Given the description of an element on the screen output the (x, y) to click on. 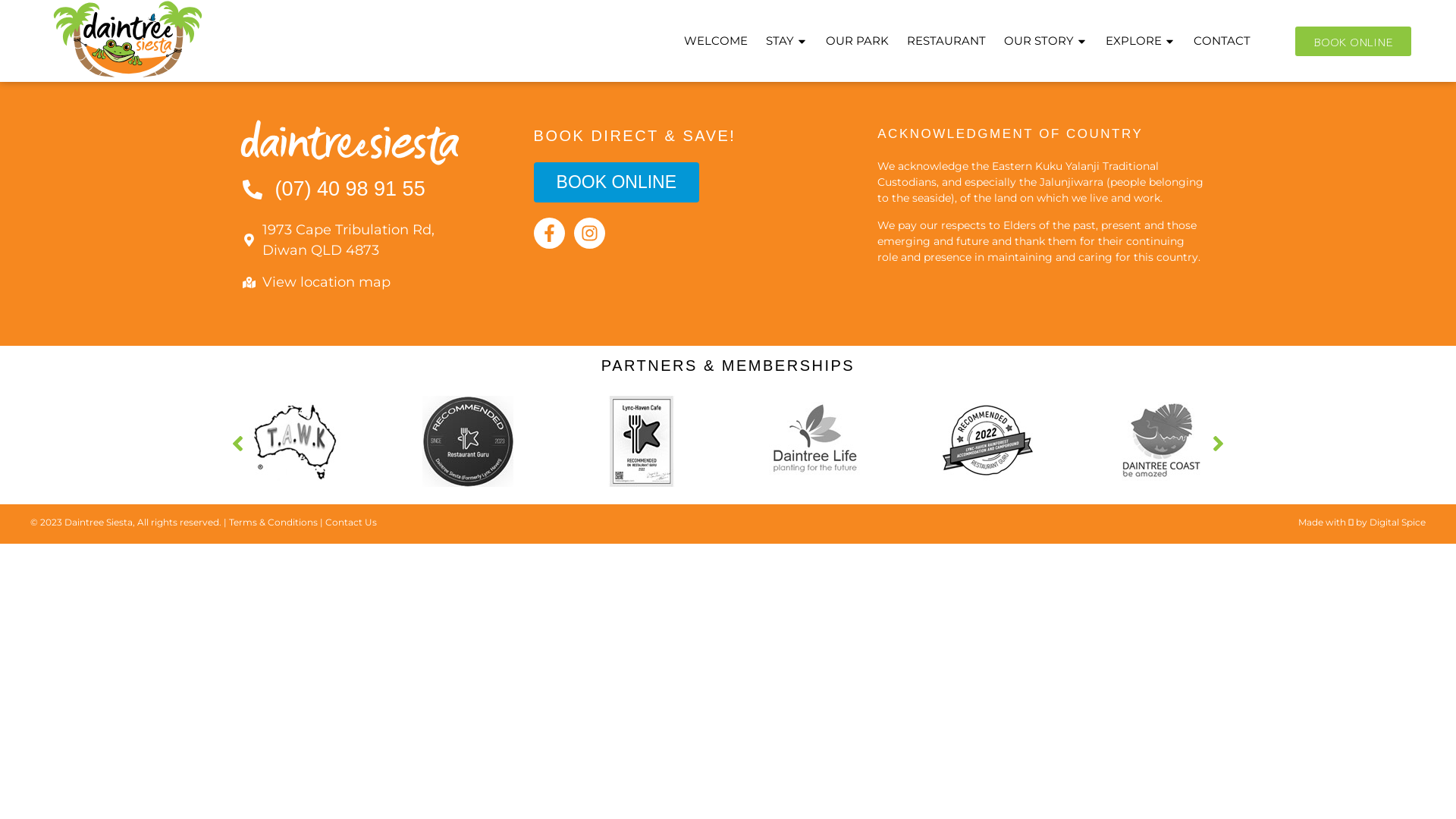
RESTAURANT Element type: text (945, 40)
View location map Element type: text (365, 282)
CONTACT Element type: text (1221, 40)
BOOK ONLINE Element type: text (1353, 41)
OUR STORY Element type: text (1045, 40)
BOOK ONLINE Element type: text (616, 182)
OUR PARK Element type: text (856, 40)
(07) 40 98 91 55 Element type: text (365, 188)
Contact Us Element type: text (350, 521)
EXPLORE Element type: text (1140, 40)
WELCOME Element type: text (715, 40)
Terms & Conditions Element type: text (273, 521)
Digital Spice Element type: text (1397, 521)
STAY Element type: text (786, 40)
